Given the description of an element on the screen output the (x, y) to click on. 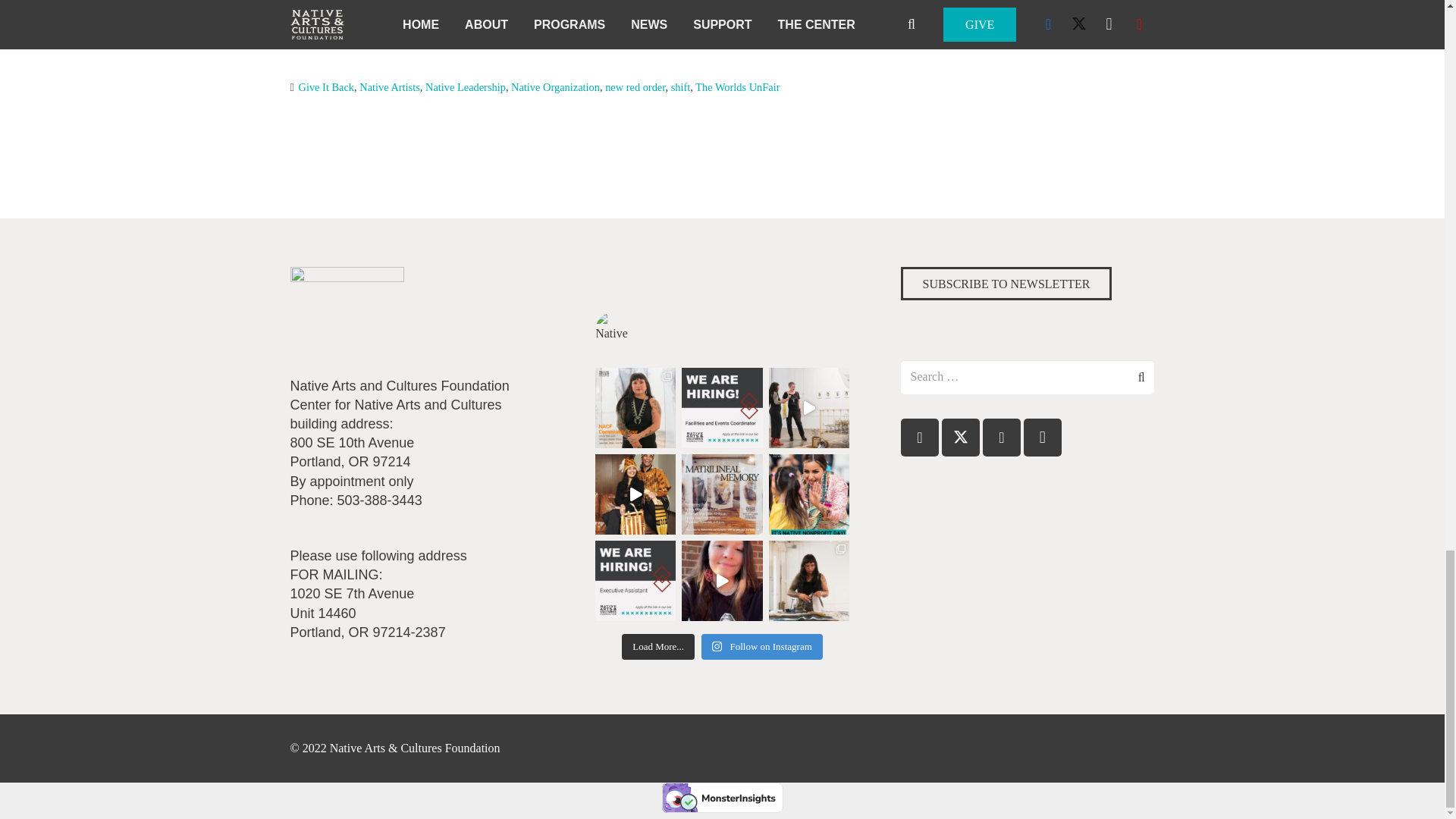
Verified by MonsterInsights (722, 797)
Share this (703, 1)
Tweet this (740, 1)
Twitter (960, 437)
Facebook (920, 437)
YouTube (1001, 437)
Instagram (1042, 437)
Email this (667, 1)
Share this (776, 1)
